Given the description of an element on the screen output the (x, y) to click on. 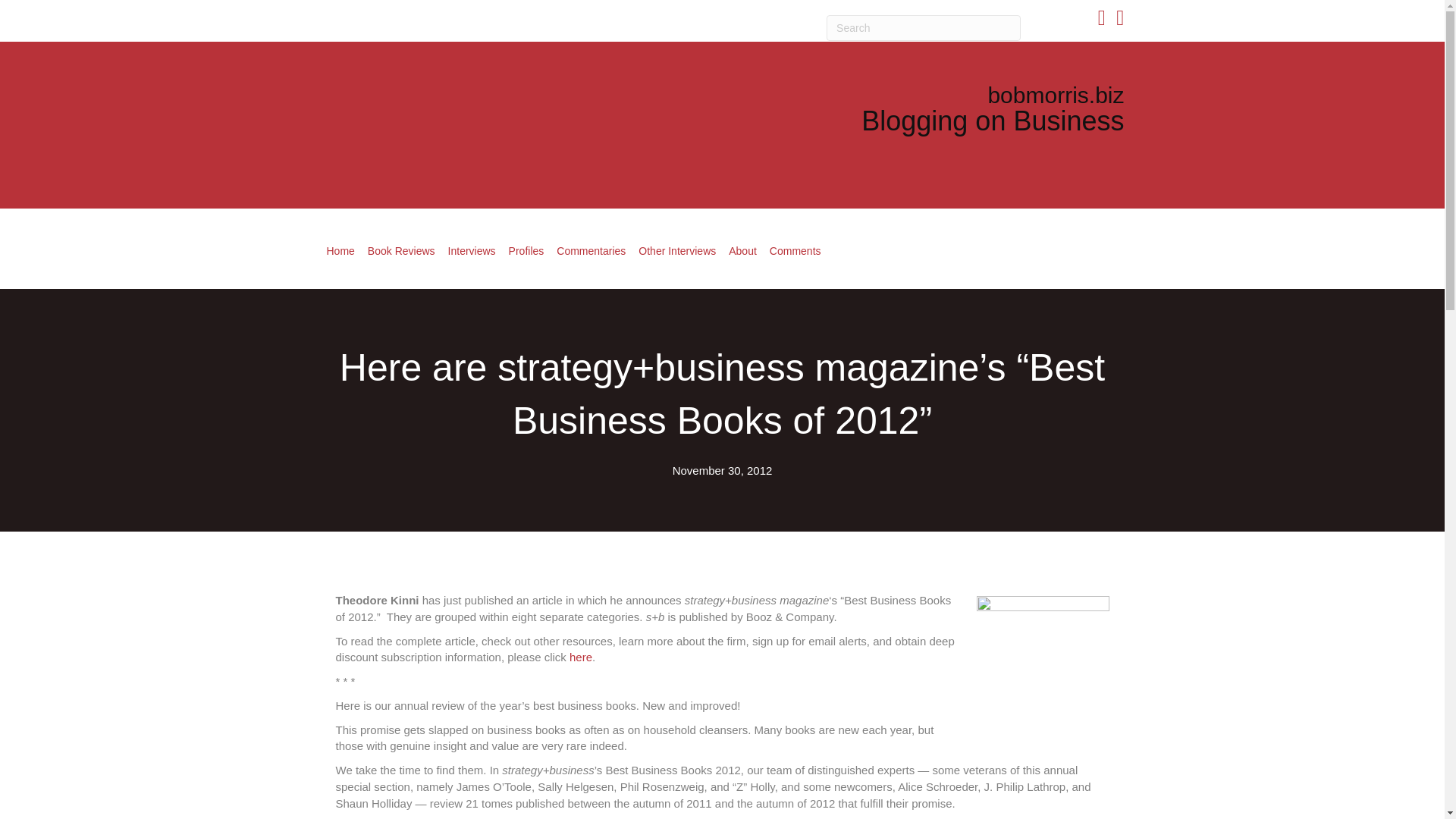
here (580, 656)
Comments (794, 250)
Interviews (472, 250)
Type and press Enter to search. (923, 27)
Other Interviews (676, 250)
Book Reviews (401, 250)
Commentaries (590, 250)
bobmorris.biz (1055, 94)
Home (339, 250)
bobmorris.biz (1055, 94)
